Given the description of an element on the screen output the (x, y) to click on. 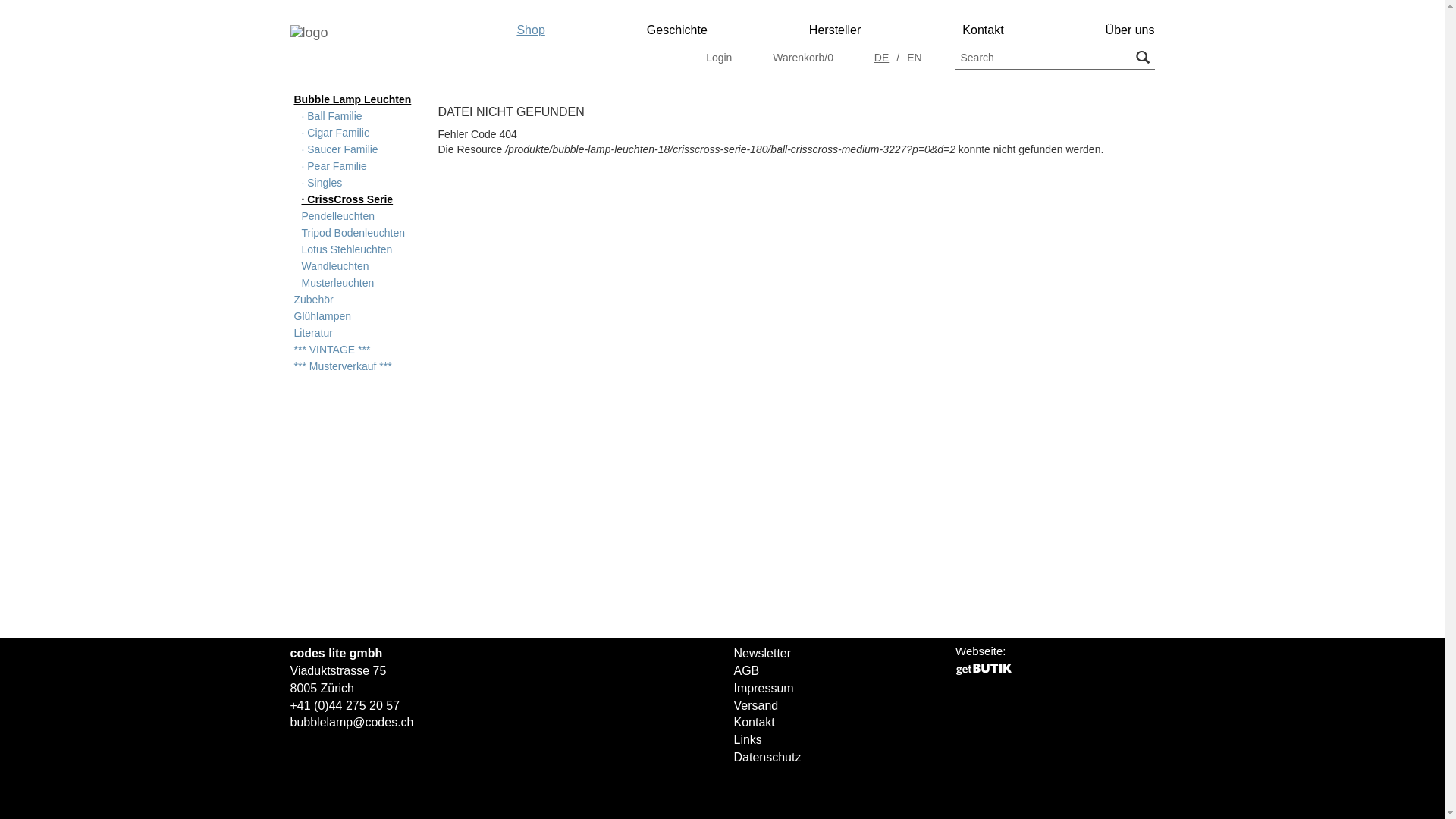
*** VINTAGE *** Element type: text (351, 348)
Bubble Lamp Leuchten Element type: text (351, 98)
Hersteller Element type: text (830, 30)
Kontakt Element type: text (754, 721)
Newsletter Element type: text (762, 652)
Versand Element type: text (756, 705)
Login Element type: text (718, 57)
AGB Element type: text (746, 670)
Lotus Stehleuchten Element type: text (351, 248)
bubblelamp@codes.ch Element type: text (351, 721)
Geschichte Element type: text (673, 30)
Literatur Element type: text (351, 331)
Pendelleuchten Element type: text (351, 215)
Musterleuchten Element type: text (351, 281)
Datenschutz Element type: text (767, 756)
Impressum Element type: text (763, 687)
Links Element type: text (748, 739)
Wandleuchten Element type: text (351, 265)
Tripod Bodenleuchten Element type: text (351, 231)
DE Element type: text (881, 57)
+41 (0)44 275 20 57 Element type: text (344, 705)
Warenkorb/0 Element type: text (802, 57)
Shop Element type: text (526, 30)
*** Musterverkauf *** Element type: text (351, 365)
Kontakt Element type: text (978, 30)
EN Element type: text (913, 57)
